Given the description of an element on the screen output the (x, y) to click on. 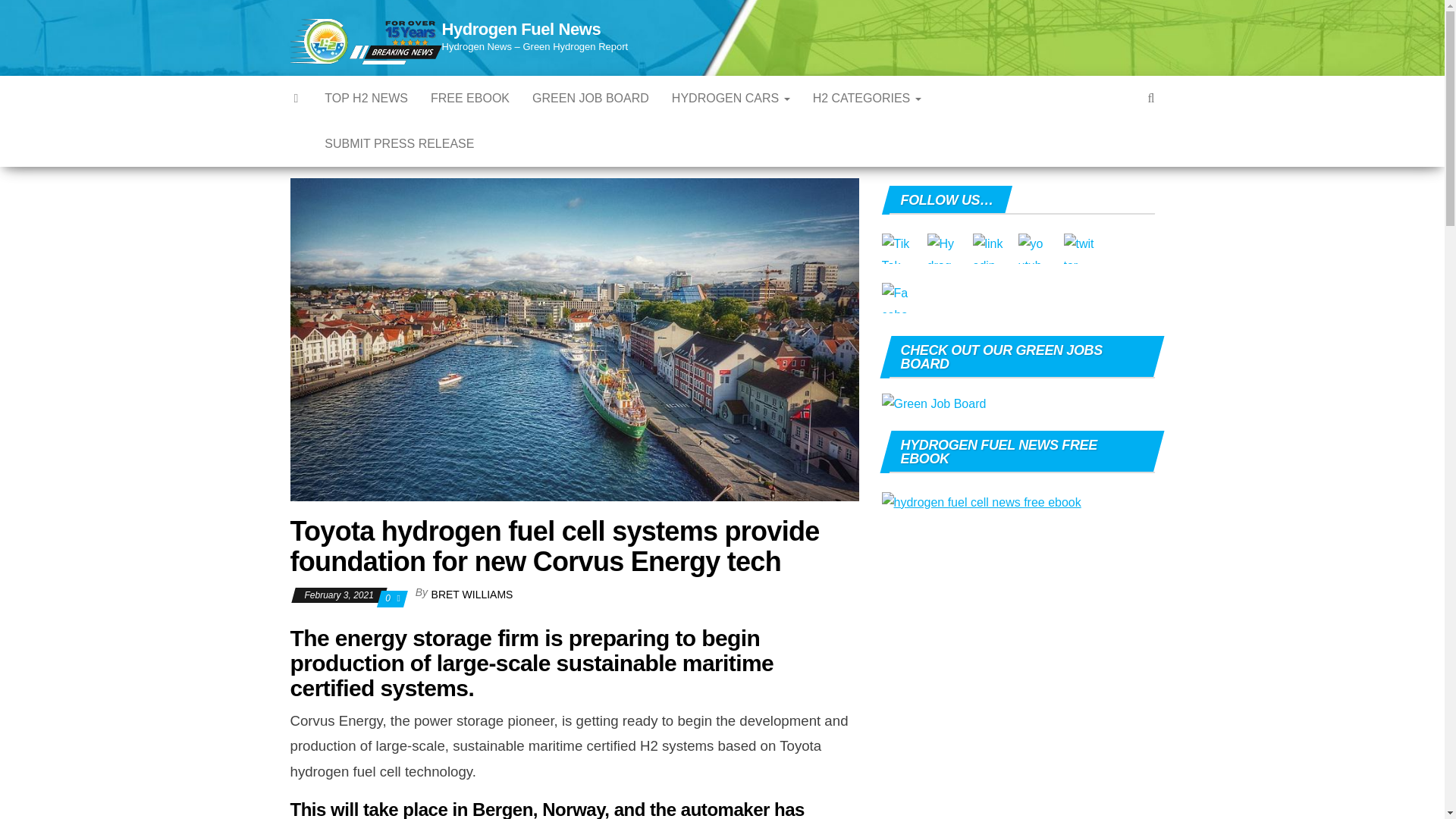
Hydrogen Fuel News (520, 28)
Green Job Board (591, 98)
HYDROGEN CARS (731, 98)
Free ebook (470, 98)
Top H2 News (366, 98)
H2 CATEGORIES (867, 98)
Hydrogen Cars (731, 98)
FREE EBOOK (470, 98)
TOP H2 NEWS (366, 98)
GREEN JOB BOARD (591, 98)
